Given the description of an element on the screen output the (x, y) to click on. 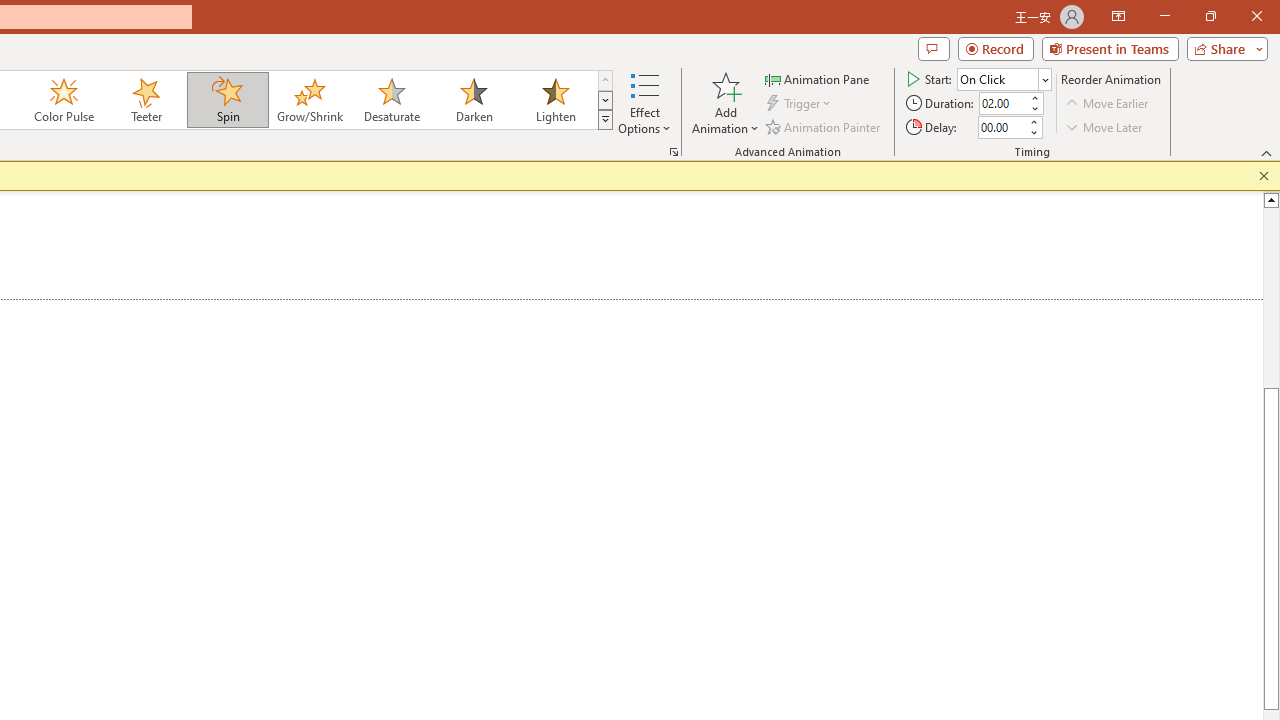
Grow/Shrink (309, 100)
Animation Pane (818, 78)
Animation Painter (824, 126)
Lighten (555, 100)
Effect Options (644, 102)
Color Pulse (63, 100)
Move Earlier (1107, 103)
Spin (227, 100)
Animation Delay (1002, 127)
Add Animation (725, 102)
Row up (605, 79)
